Given the description of an element on the screen output the (x, y) to click on. 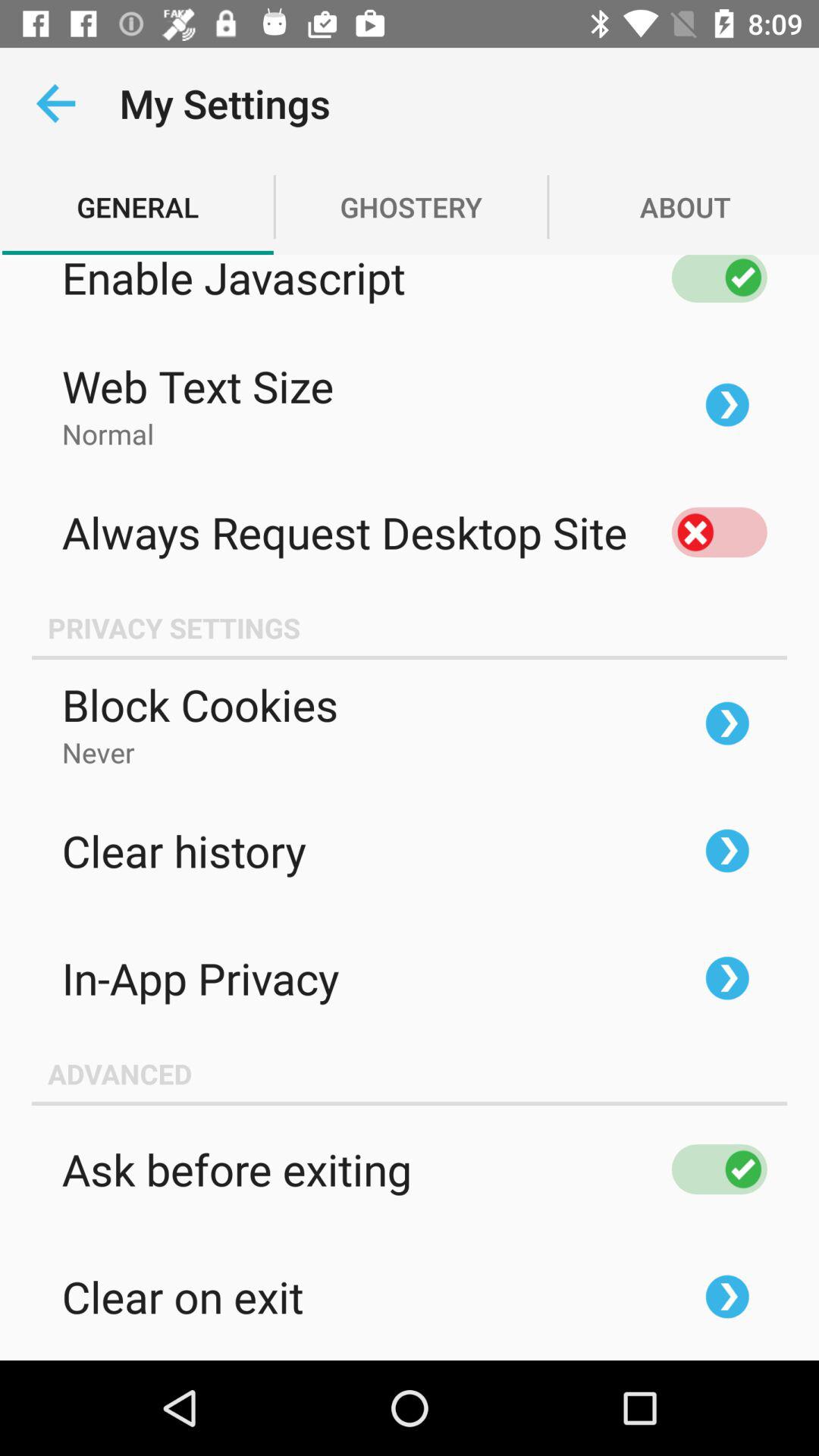
flip to privacy settings icon (409, 627)
